Given the description of an element on the screen output the (x, y) to click on. 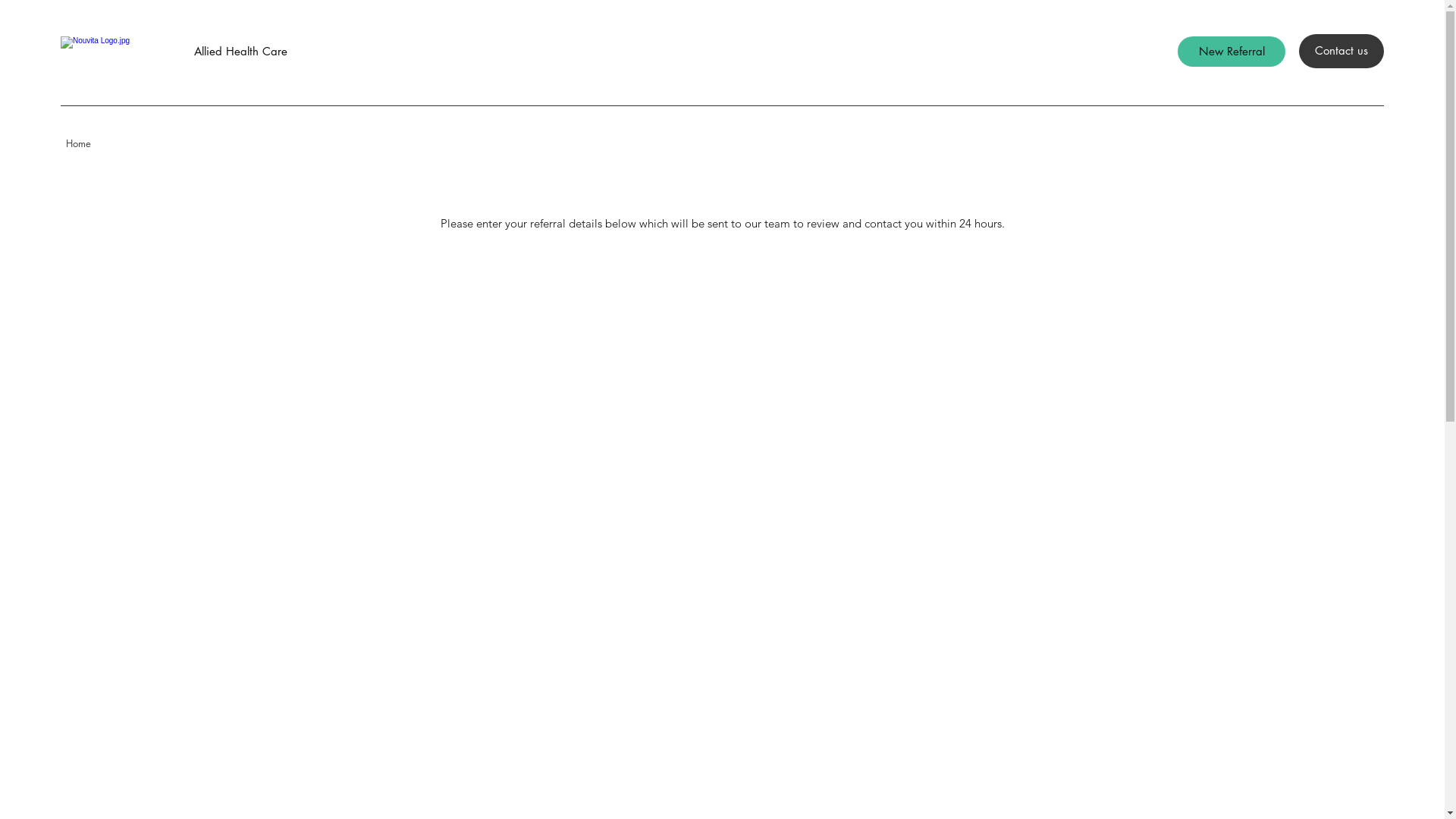
Contact us Element type: text (1341, 51)
New Referral Element type: text (1231, 51)
Home Element type: text (78, 142)
